Given the description of an element on the screen output the (x, y) to click on. 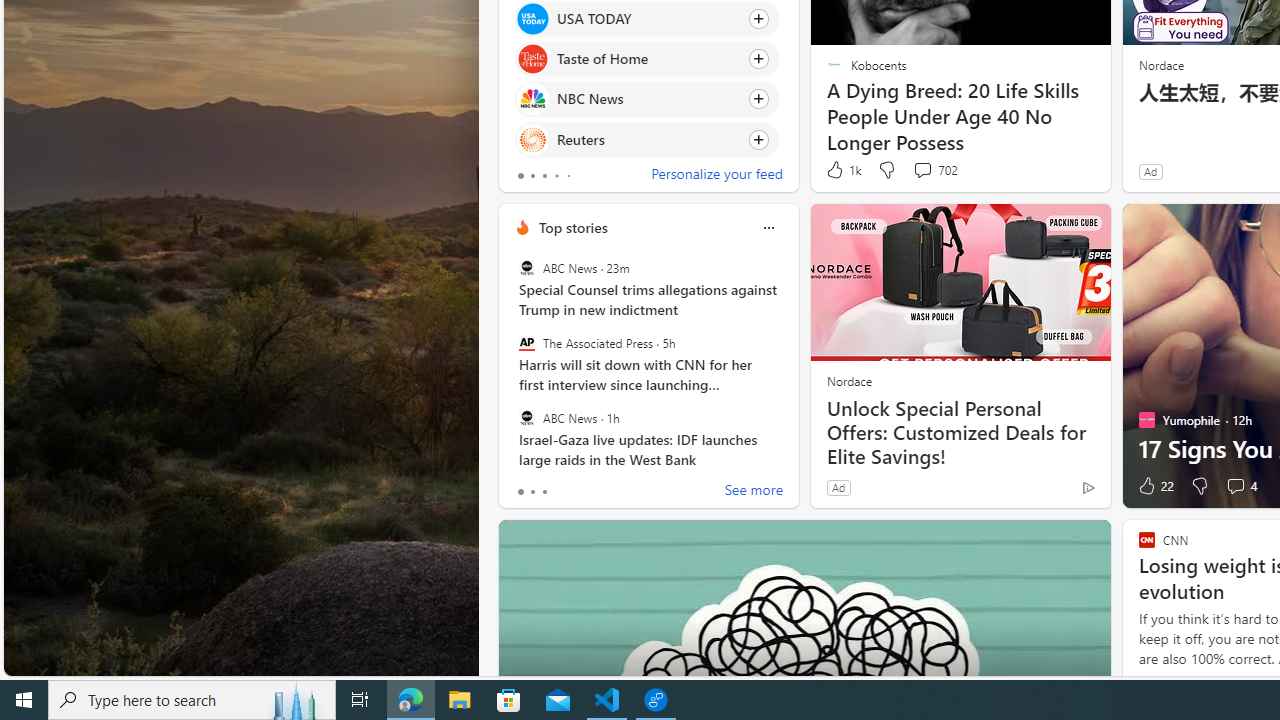
tab-4 (567, 175)
USA TODAY (532, 18)
The Associated Press (526, 343)
Taste of Home (532, 59)
1k Like (842, 170)
Click to follow source Reuters (646, 138)
tab-3 (556, 175)
View comments 702 Comment (922, 169)
